Given the description of an element on the screen output the (x, y) to click on. 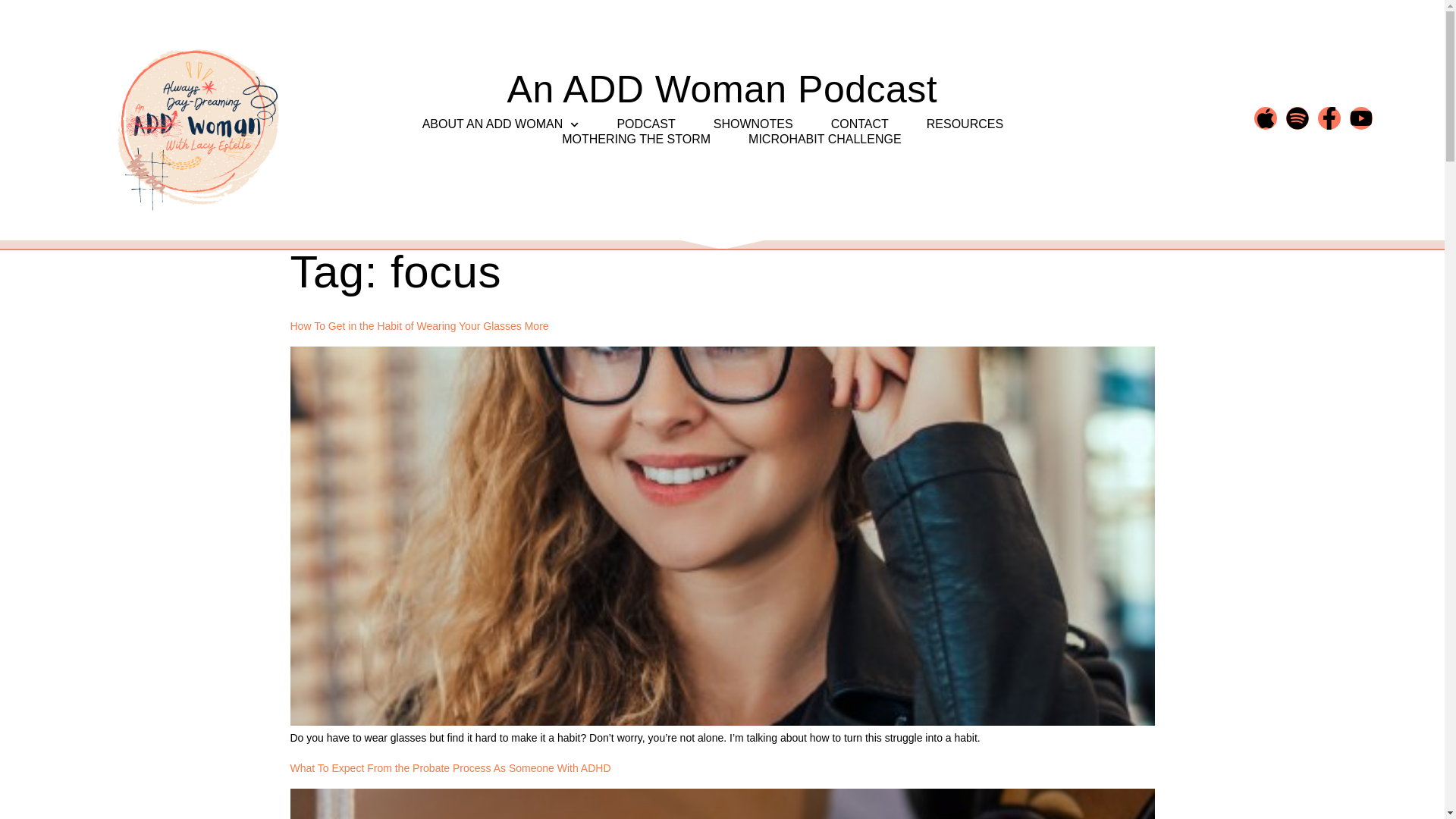
How To Get in the Habit of Wearing Your Glasses More (418, 326)
SHOWNOTES (753, 124)
MOTHERING THE STORM (636, 139)
An ADD Woman Podcast (721, 78)
CONTACT (859, 124)
What To Expect From the Probate Process As Someone With ADHD (449, 767)
MICROHABIT CHALLENGE (824, 139)
PODCAST (645, 124)
RESOURCES (964, 124)
ABOUT AN ADD WOMAN (500, 124)
